Given the description of an element on the screen output the (x, y) to click on. 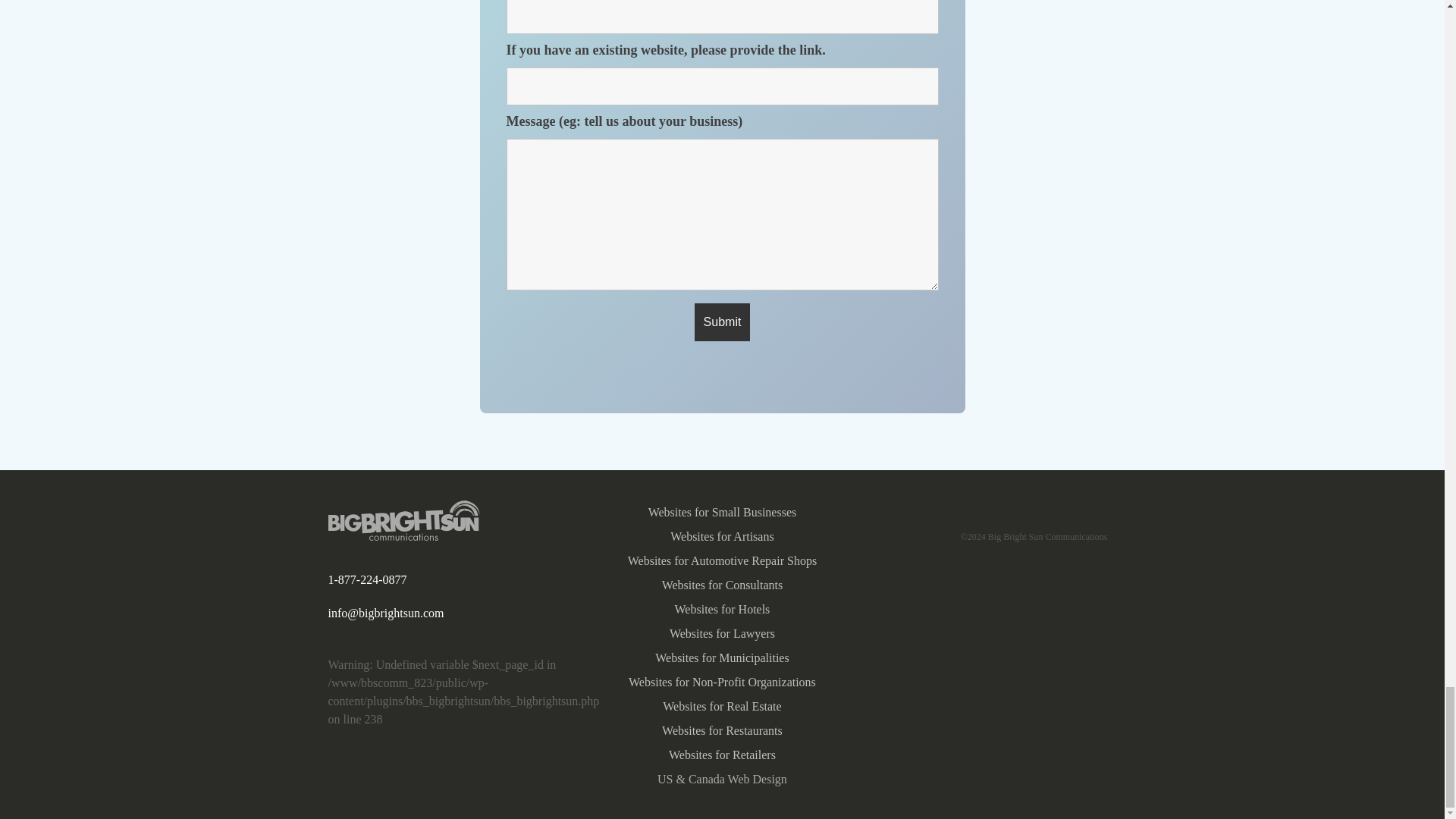
Privacy Policy (983, 508)
Cookie Policy (1073, 508)
Submit (722, 322)
